Given the description of an element on the screen output the (x, y) to click on. 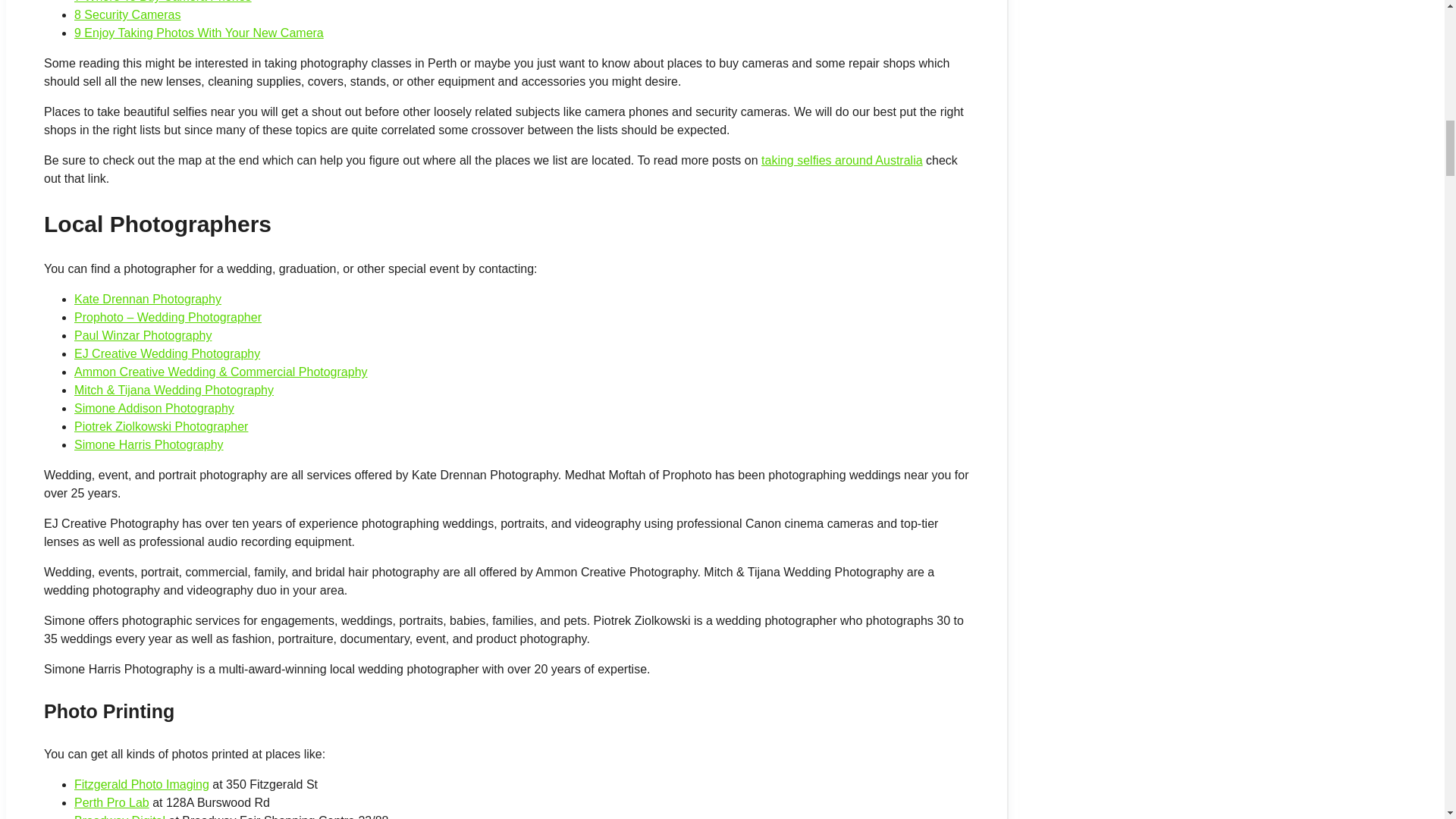
taking selfies around Australia (842, 160)
8 Security Cameras (127, 14)
9 Enjoy Taking Photos With Your New Camera (198, 32)
Piotrek Ziolkowski Photographer (160, 426)
Broadway Digital (119, 816)
Fitzgerald Photo Imaging (141, 784)
Paul Winzar Photography (142, 335)
Kate Drennan Photography (147, 298)
7 Where To Buy Camera Phones (162, 1)
EJ Creative Wedding Photography (167, 353)
Simone Harris Photography (149, 444)
Perth Pro Lab (111, 802)
Simone Addison Photography (154, 408)
